Given the description of an element on the screen output the (x, y) to click on. 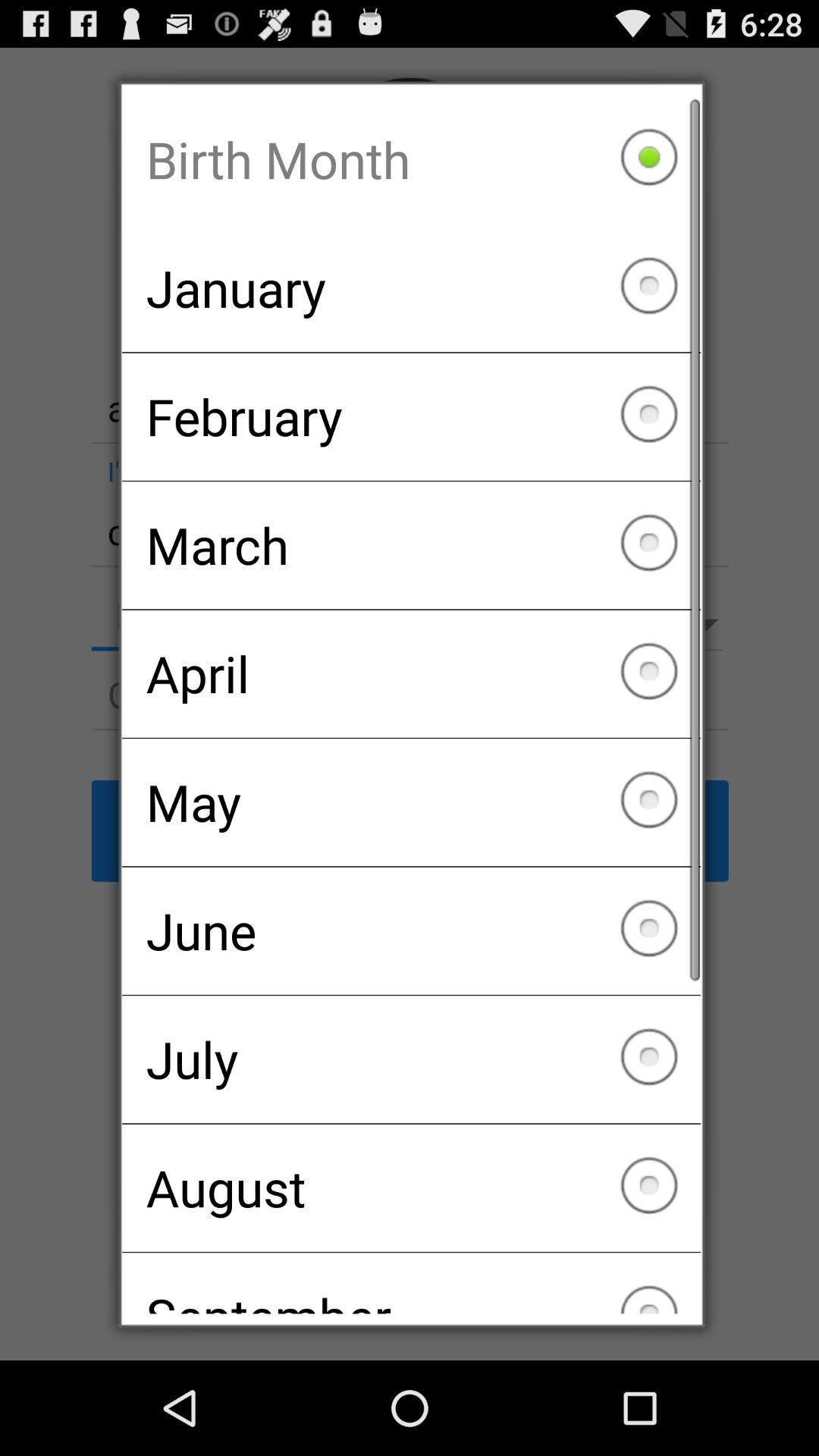
turn off the item above the may checkbox (411, 673)
